Given the description of an element on the screen output the (x, y) to click on. 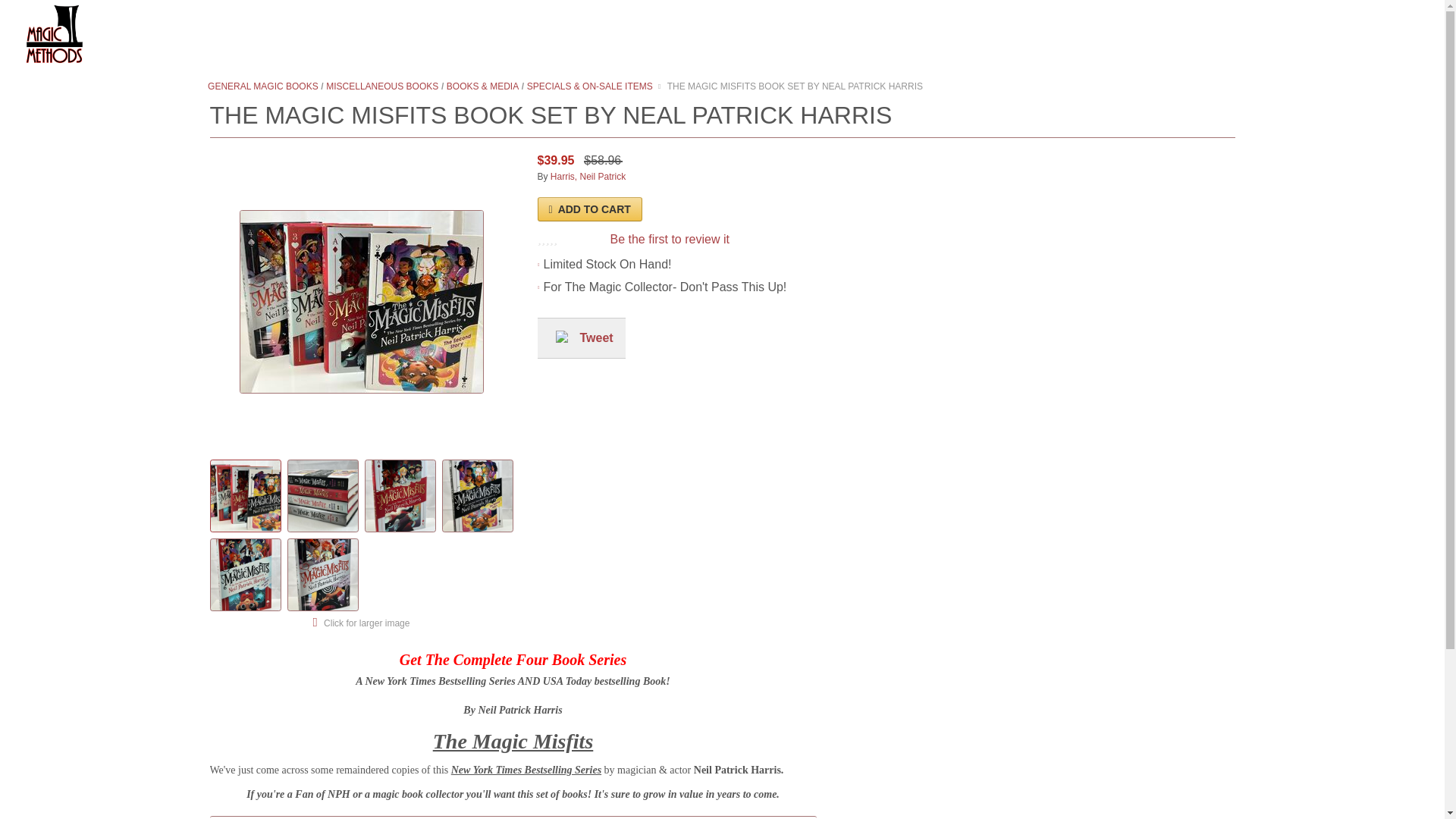
Harris, Neil Patrick (588, 176)
Click for larger image (361, 621)
GENERAL MAGIC BOOKS (261, 85)
MISCELLANEOUS BOOKS (382, 85)
THE MAGIC MISFITS BOOK SET BY NEAL PATRICK HARRIS (794, 85)
Be the first to review it (669, 239)
ADD TO CART (589, 209)
Tweet (595, 337)
